Given the description of an element on the screen output the (x, y) to click on. 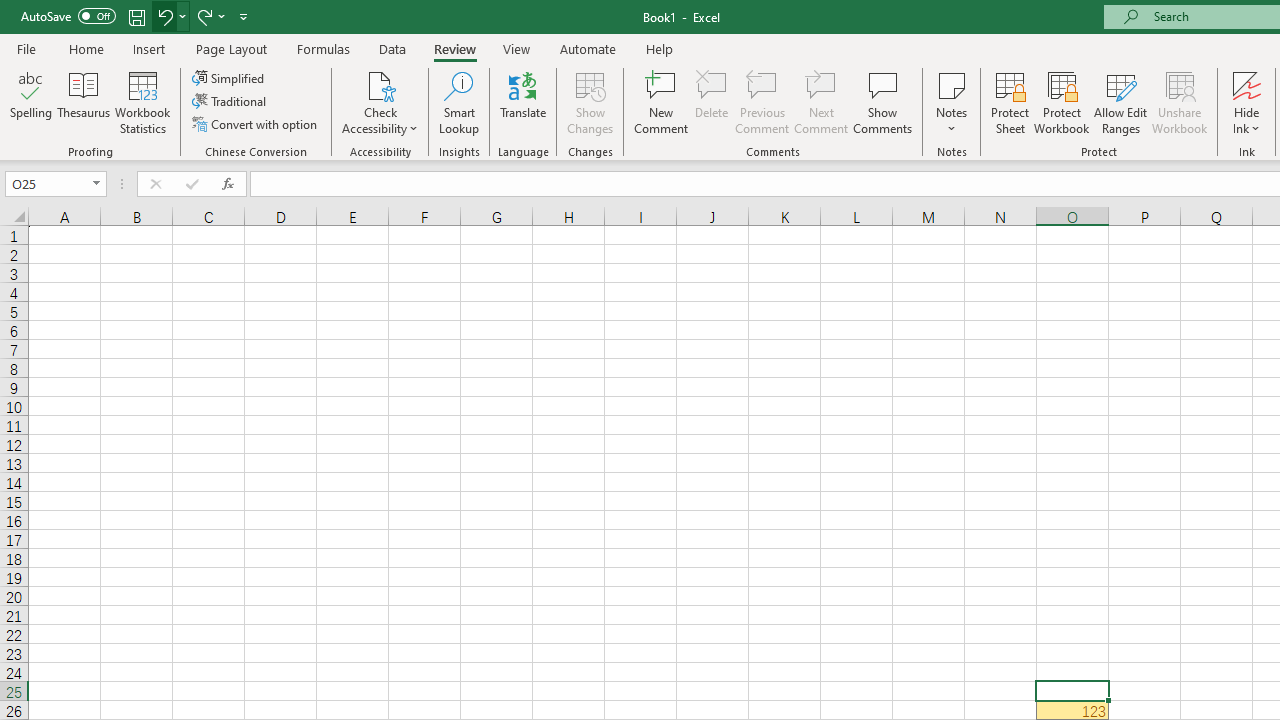
Show Changes (589, 102)
Previous Comment (762, 102)
Smart Lookup (459, 102)
Protect Workbook... (1061, 102)
Thesaurus... (83, 102)
Delete (712, 102)
